Given the description of an element on the screen output the (x, y) to click on. 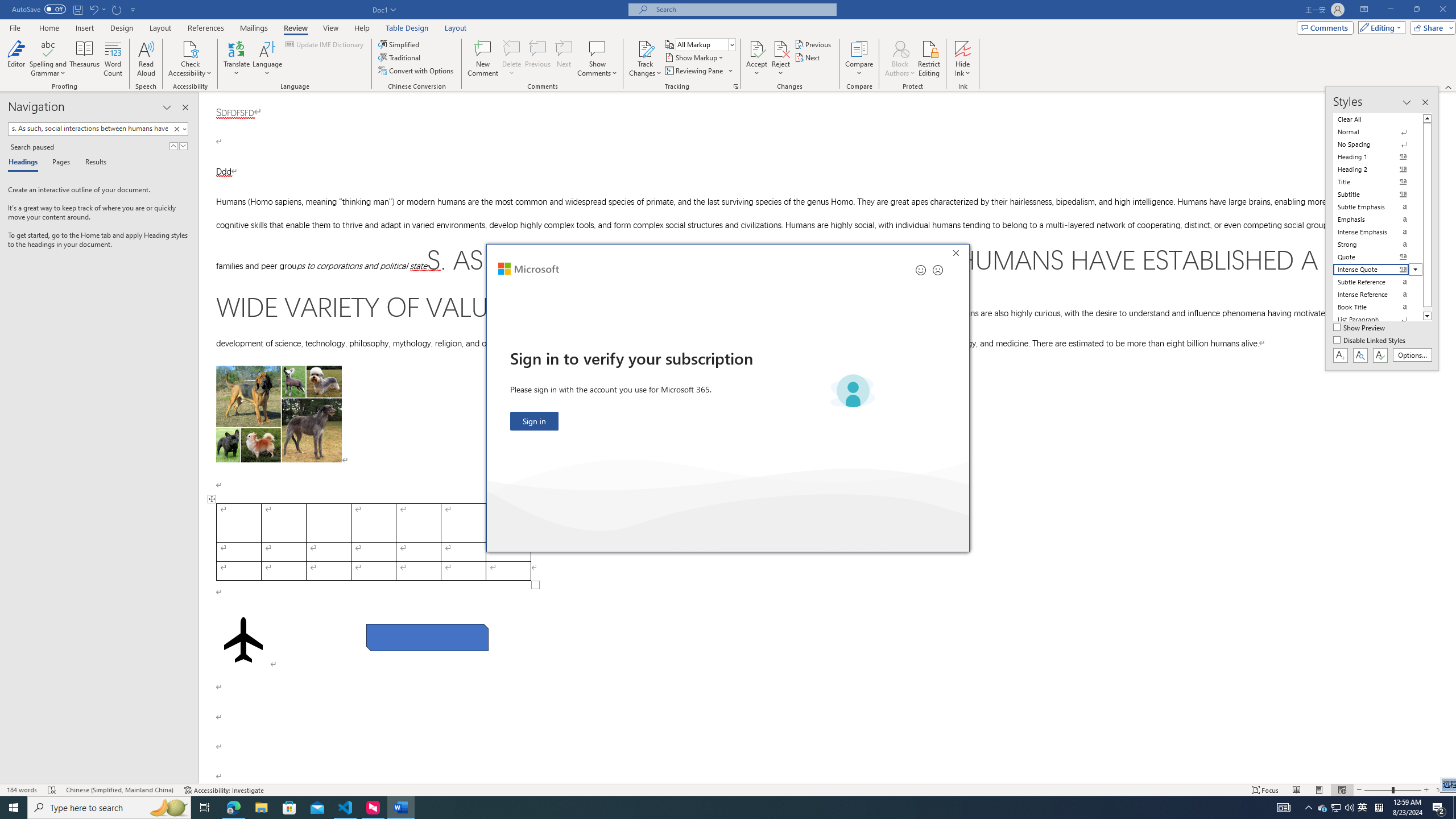
Reject and Move to Next (780, 48)
Reviewing Pane (698, 69)
Spelling and Grammar (48, 48)
Simplified (400, 44)
Word - 1 running window (400, 807)
Accept (756, 58)
Send a frown for feedback (937, 269)
New Comment (482, 58)
